Given the description of an element on the screen output the (x, y) to click on. 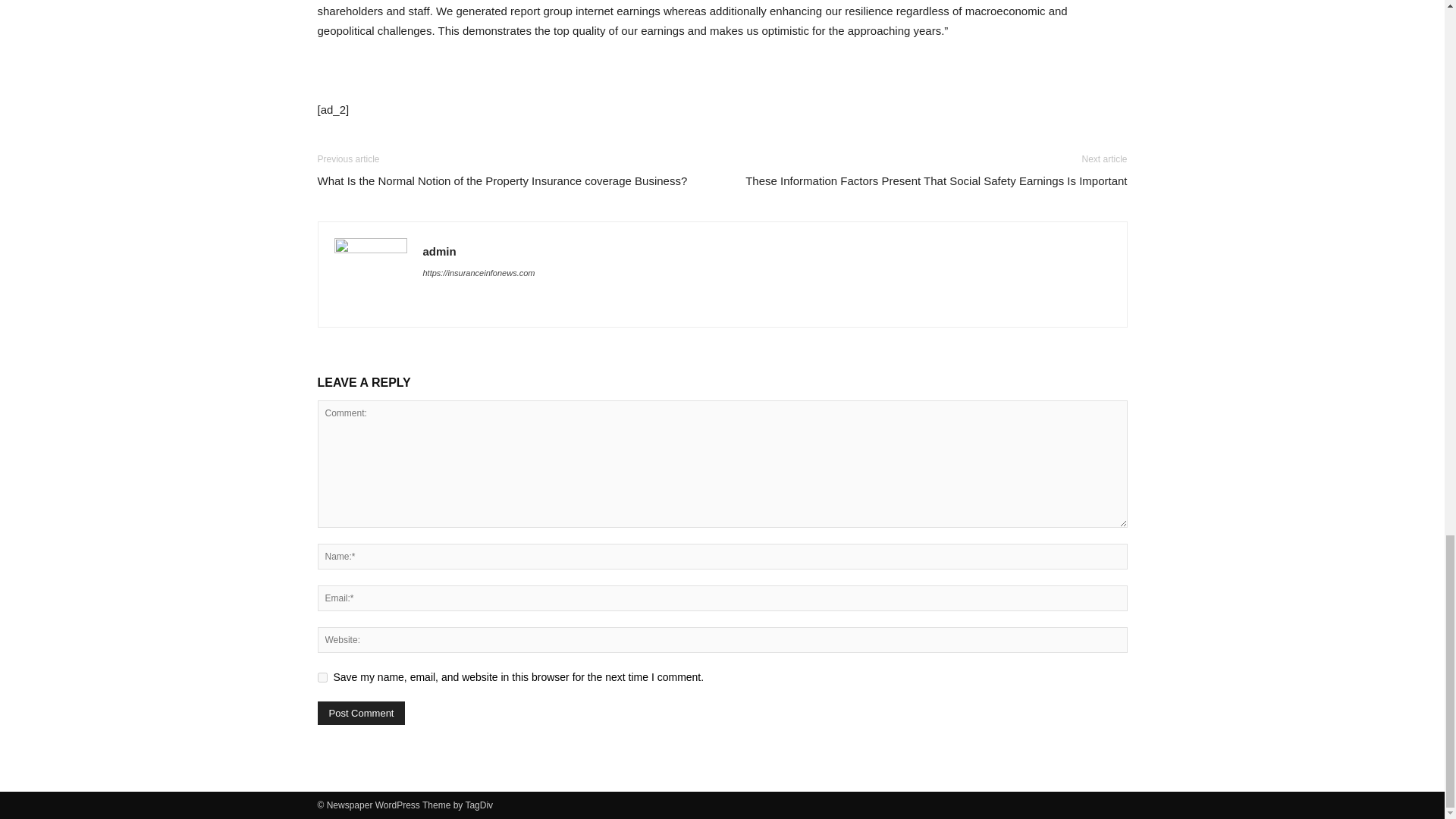
admin (440, 250)
Post Comment (360, 712)
yes (321, 677)
Post Comment (360, 712)
